Given the description of an element on the screen output the (x, y) to click on. 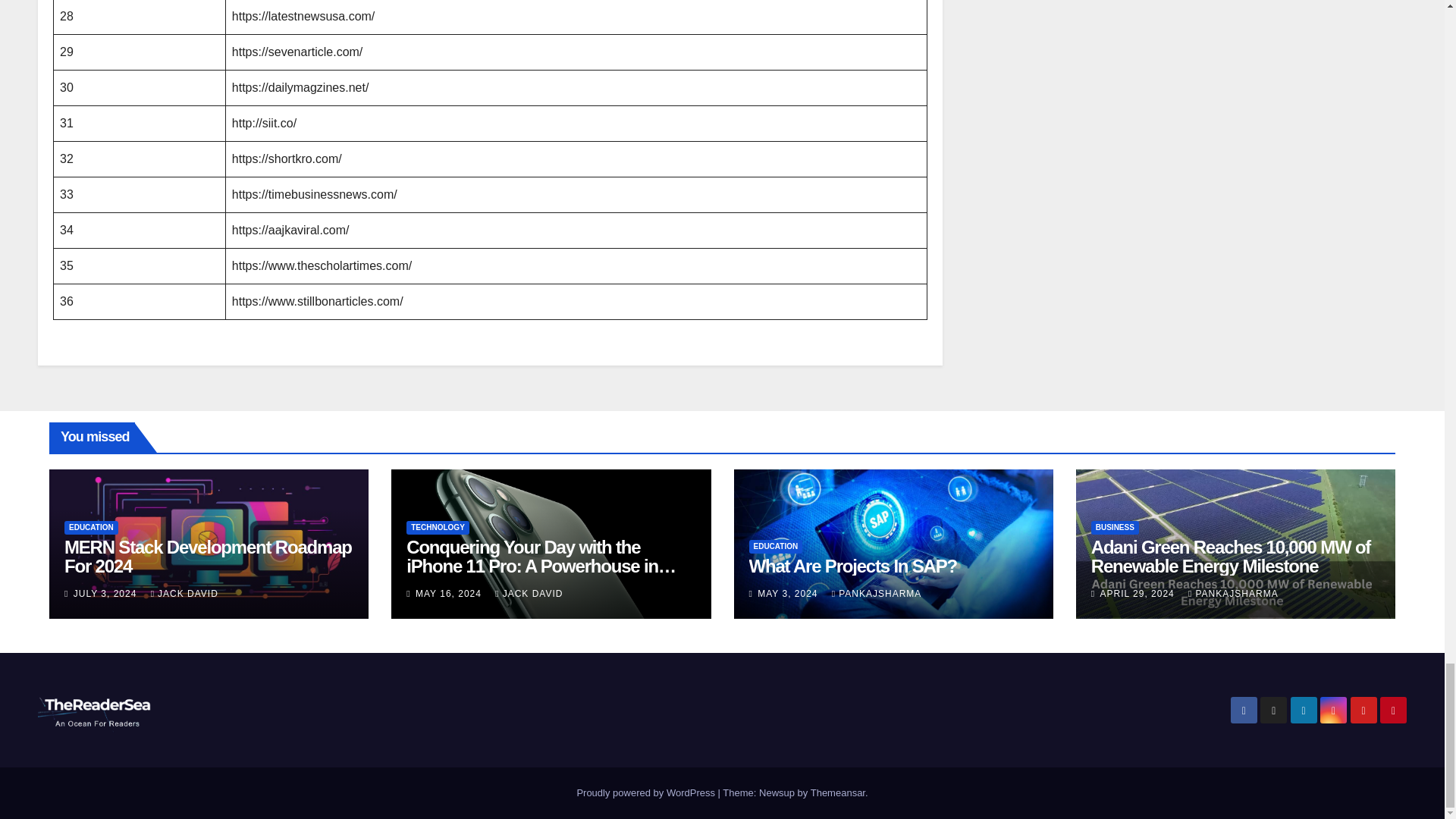
Permalink to: What Are Projects In SAP? (853, 566)
Permalink to: MERN Stack Development Roadmap For 2024 (208, 556)
